Given the description of an element on the screen output the (x, y) to click on. 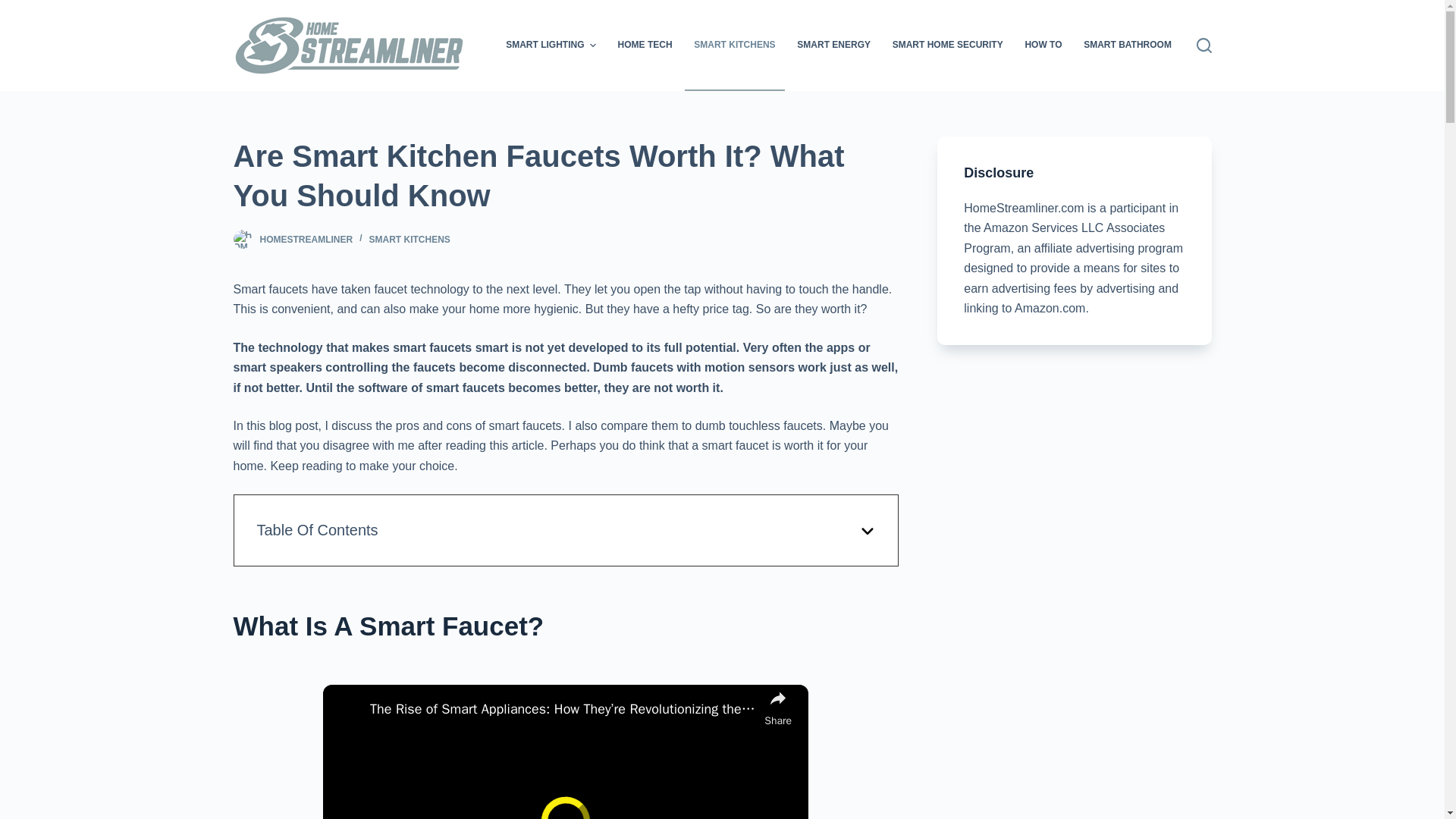
Skip to content (15, 7)
SMART ENERGY (833, 45)
HOMESTREAMLINER (305, 239)
Posts by HomeStreamliner (305, 239)
SMART LIGHTING (550, 45)
SMART KITCHENS (734, 45)
Are Smart Kitchen Faucets Worth It? What You Should Know (565, 175)
SMART BATHROOM (1127, 45)
SMART HOME SECURITY (946, 45)
